Given the description of an element on the screen output the (x, y) to click on. 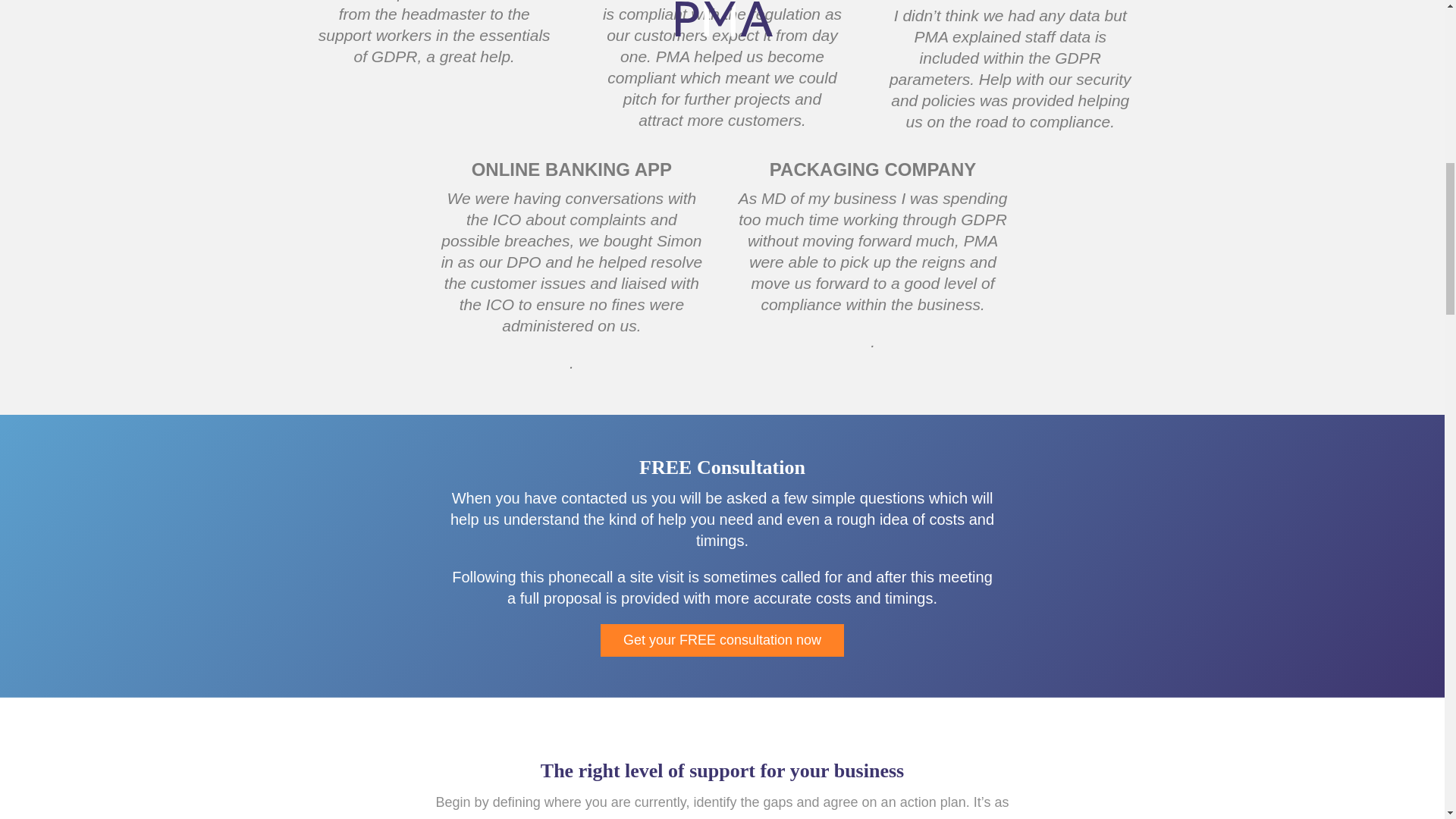
Get your FREE consultation now (721, 640)
